Given the description of an element on the screen output the (x, y) to click on. 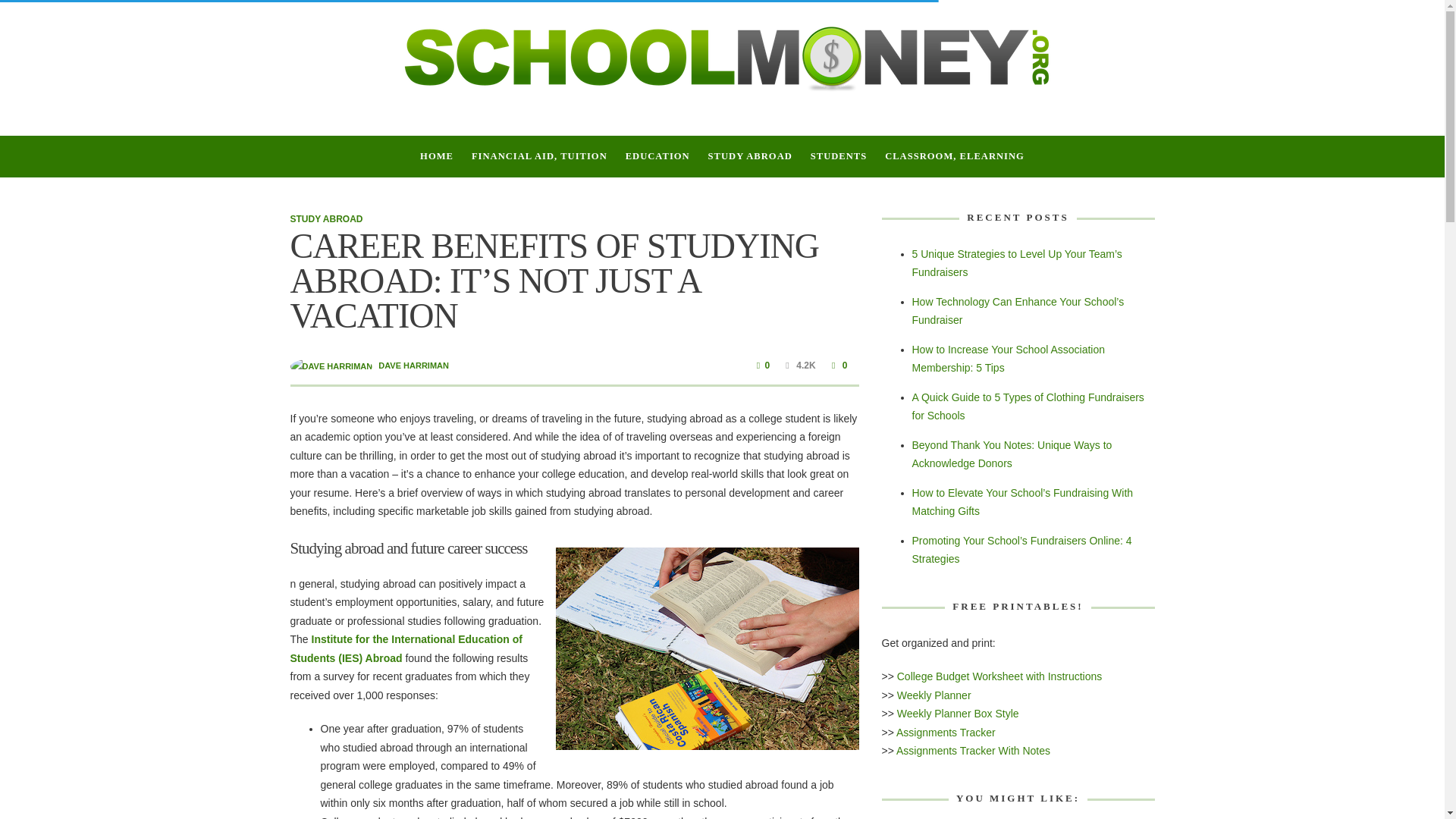
0 (837, 365)
Beyond Thank You Notes: Unique Ways to Acknowledge Donors (1011, 454)
HOME (436, 156)
STUDY ABROAD (749, 156)
STUDENTS (839, 156)
DAVE HARRIMAN (413, 365)
CLASSROOM, ELEARNING (954, 156)
A Quick Guide to 5 Types of Clothing Fundraisers for Schools (1026, 406)
How to Increase Your School Association Membership: 5 Tips (1008, 358)
0 (761, 365)
